Given the description of an element on the screen output the (x, y) to click on. 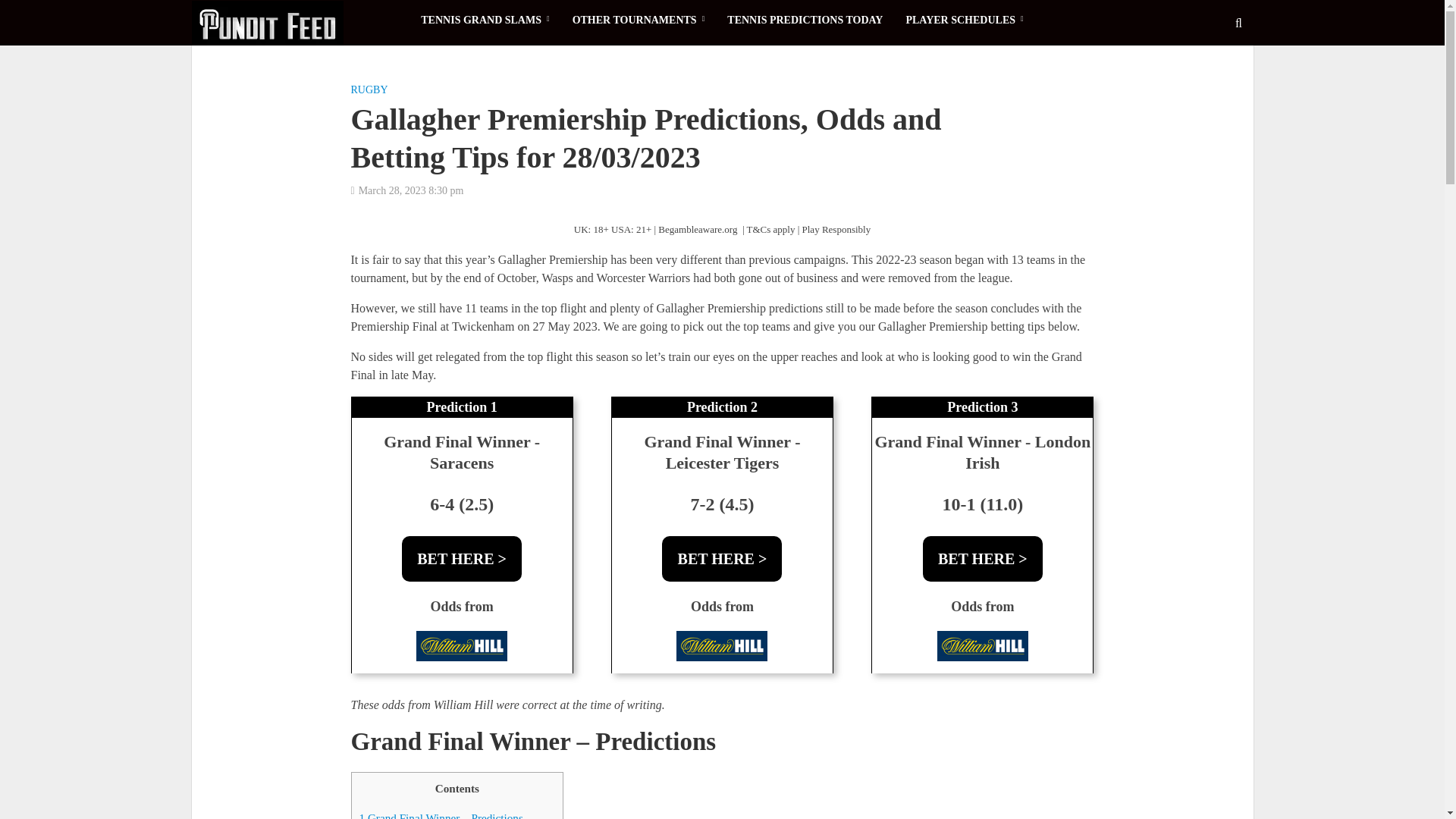
TENNIS GRAND SLAMS (484, 20)
TENNIS PREDICTIONS TODAY (804, 20)
OTHER TOURNAMENTS (638, 20)
PLAYER SCHEDULES (963, 20)
RUGBY (368, 91)
